Given the description of an element on the screen output the (x, y) to click on. 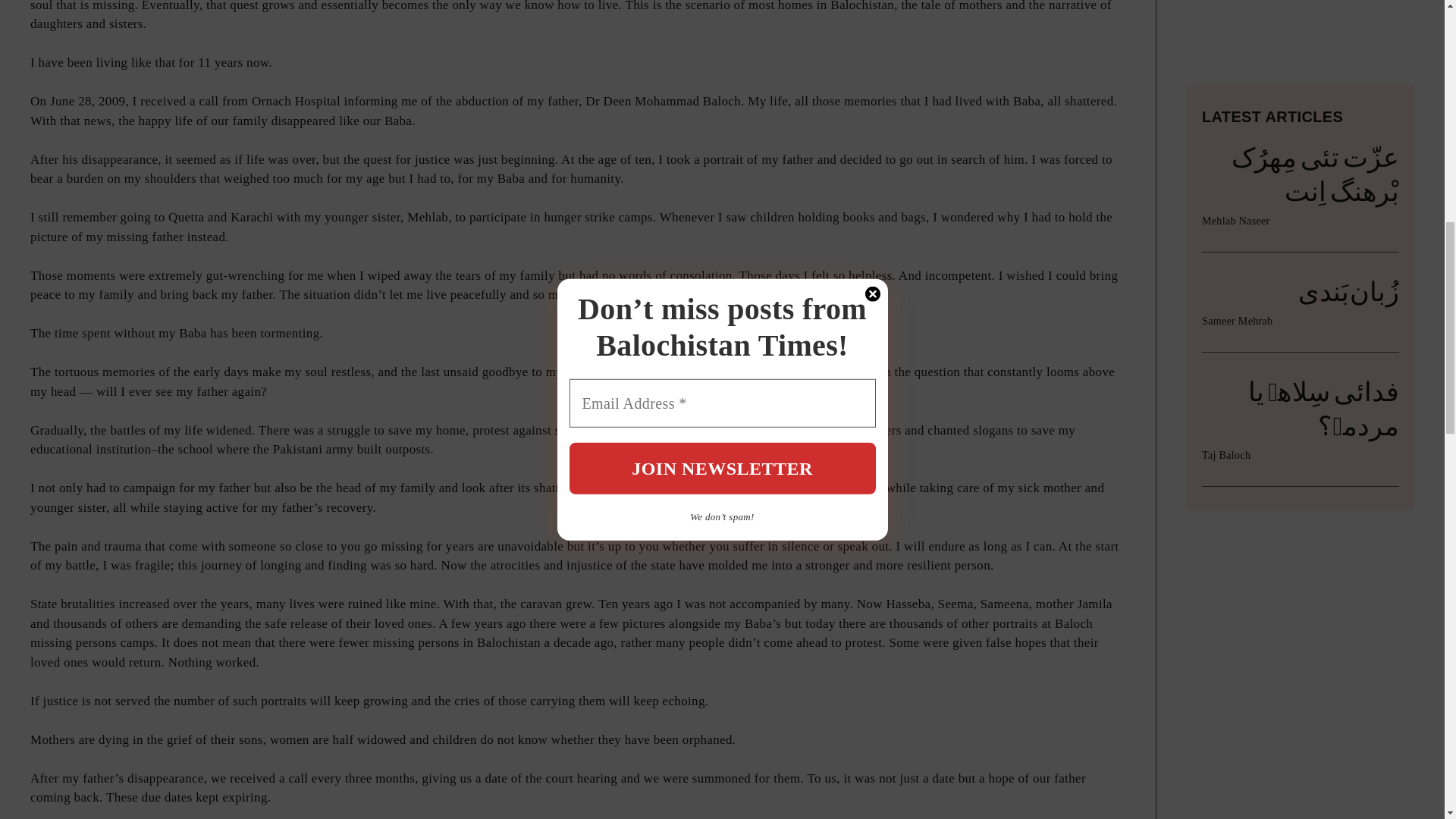
Taj Baloch (1226, 2)
